Given the description of an element on the screen output the (x, y) to click on. 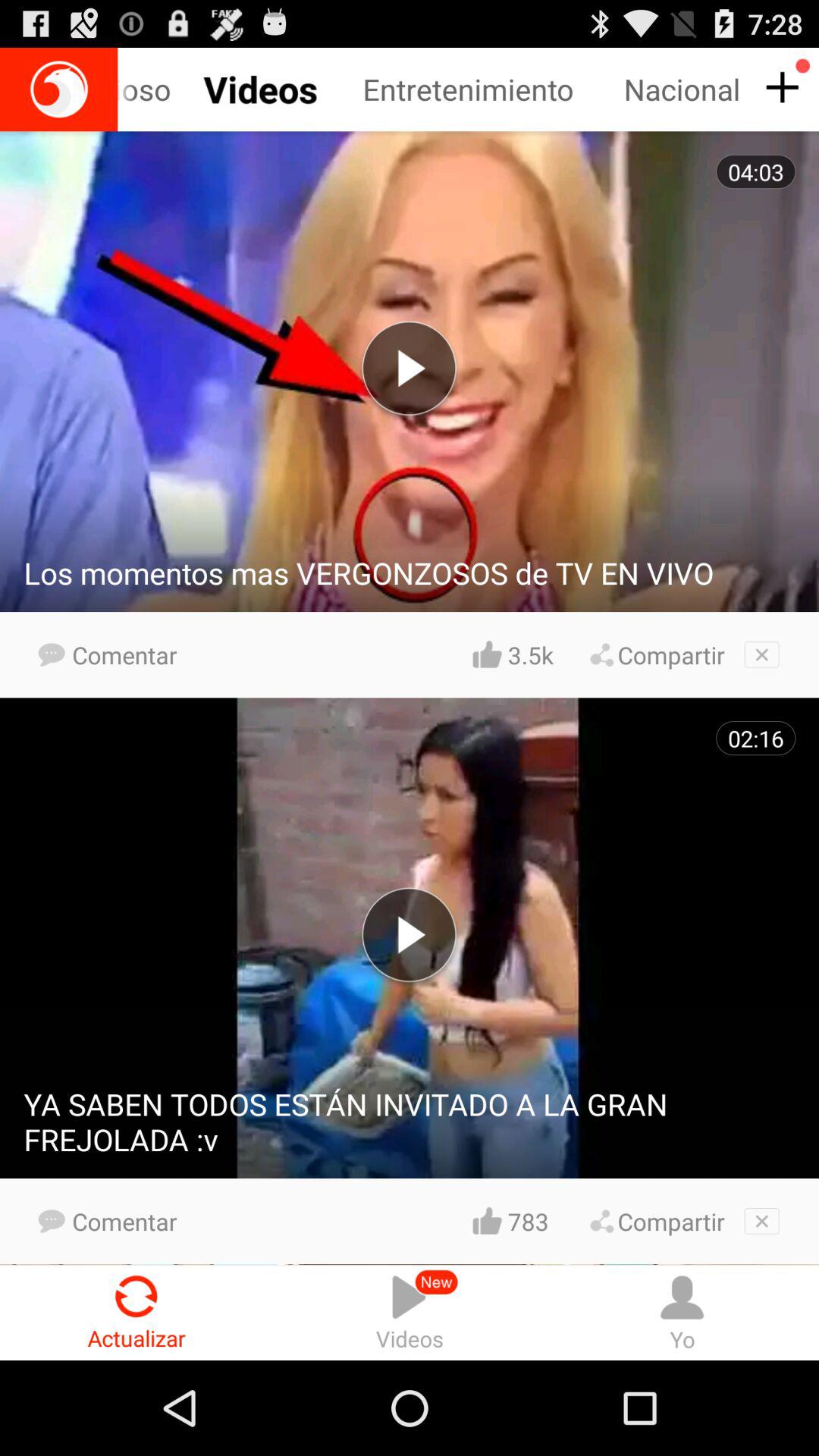
choose item next to comentar (530, 654)
